Given the description of an element on the screen output the (x, y) to click on. 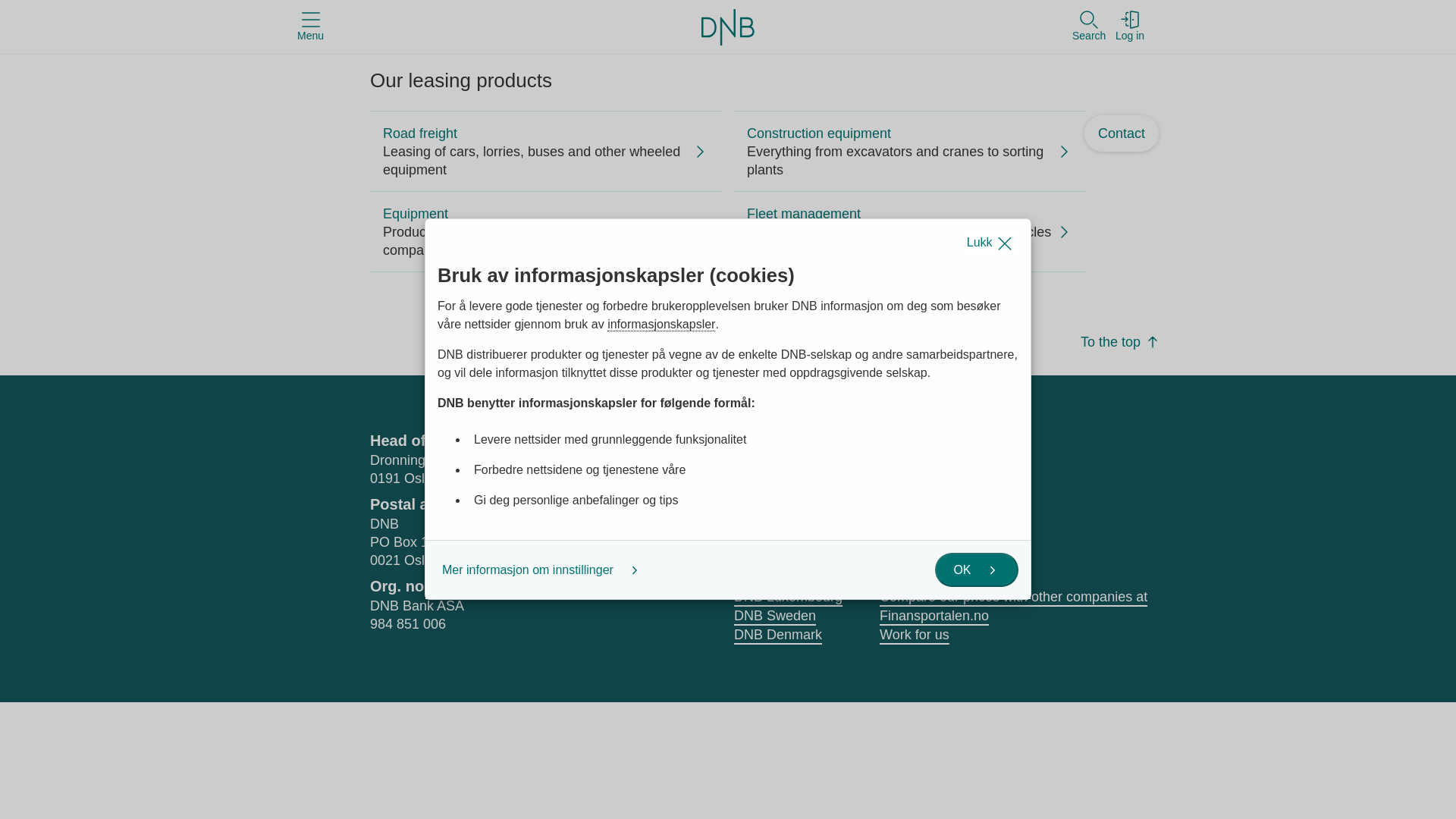
Opens a new window (891, 469)
Facebook (891, 469)
YouTube (933, 469)
Opens a new window (933, 469)
